Given the description of an element on the screen output the (x, y) to click on. 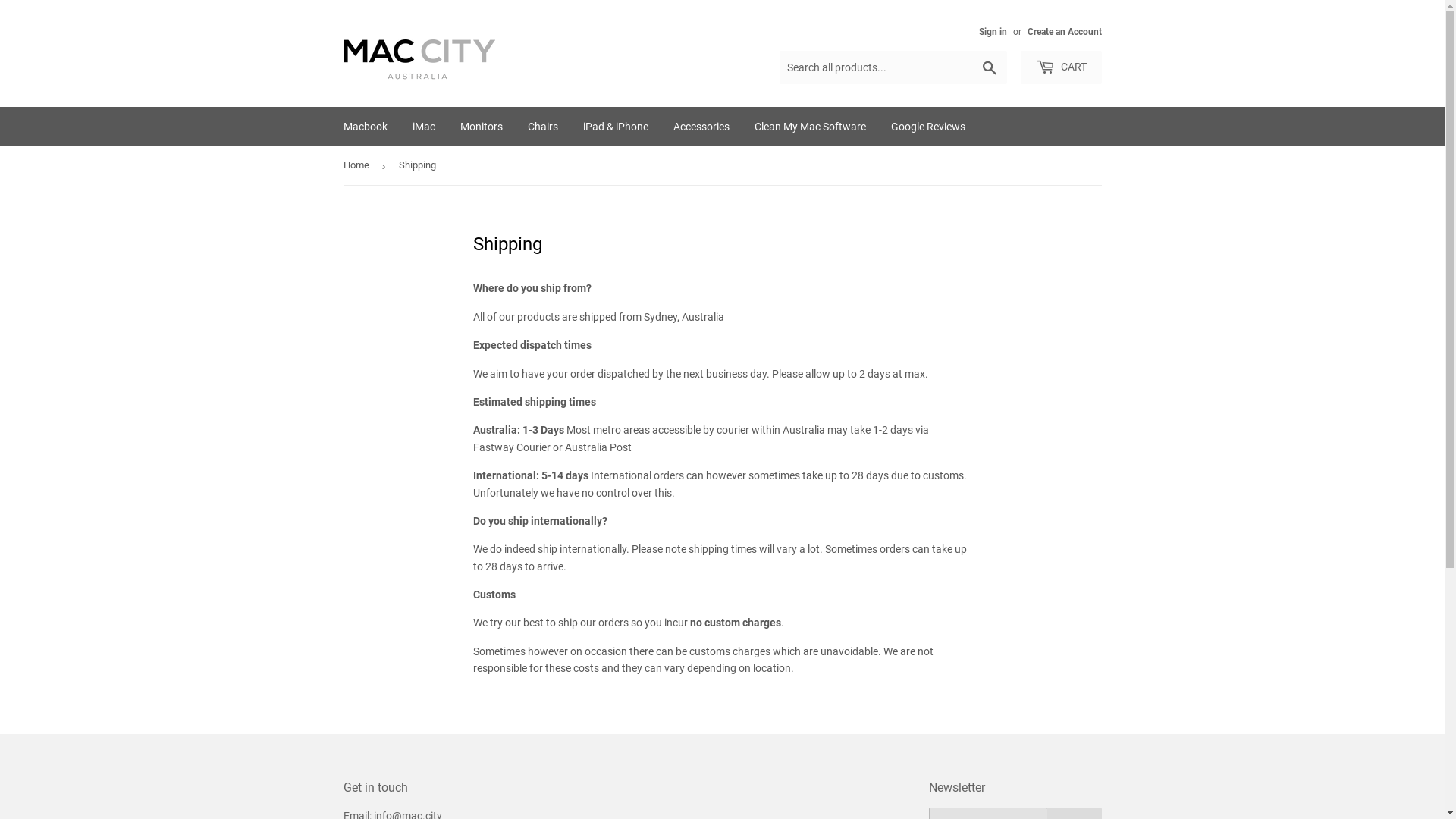
CART Element type: text (1060, 67)
Sign in Element type: text (992, 31)
Accessories Element type: text (700, 126)
Clean My Mac Software Element type: text (810, 126)
Macbook Element type: text (365, 126)
Home Element type: text (357, 165)
iPad & iPhone Element type: text (615, 126)
Monitors Element type: text (481, 126)
Google Reviews Element type: text (927, 126)
iMac Element type: text (422, 126)
Create an Account Element type: text (1063, 31)
Search Element type: text (989, 68)
Chairs Element type: text (541, 126)
